Given the description of an element on the screen output the (x, y) to click on. 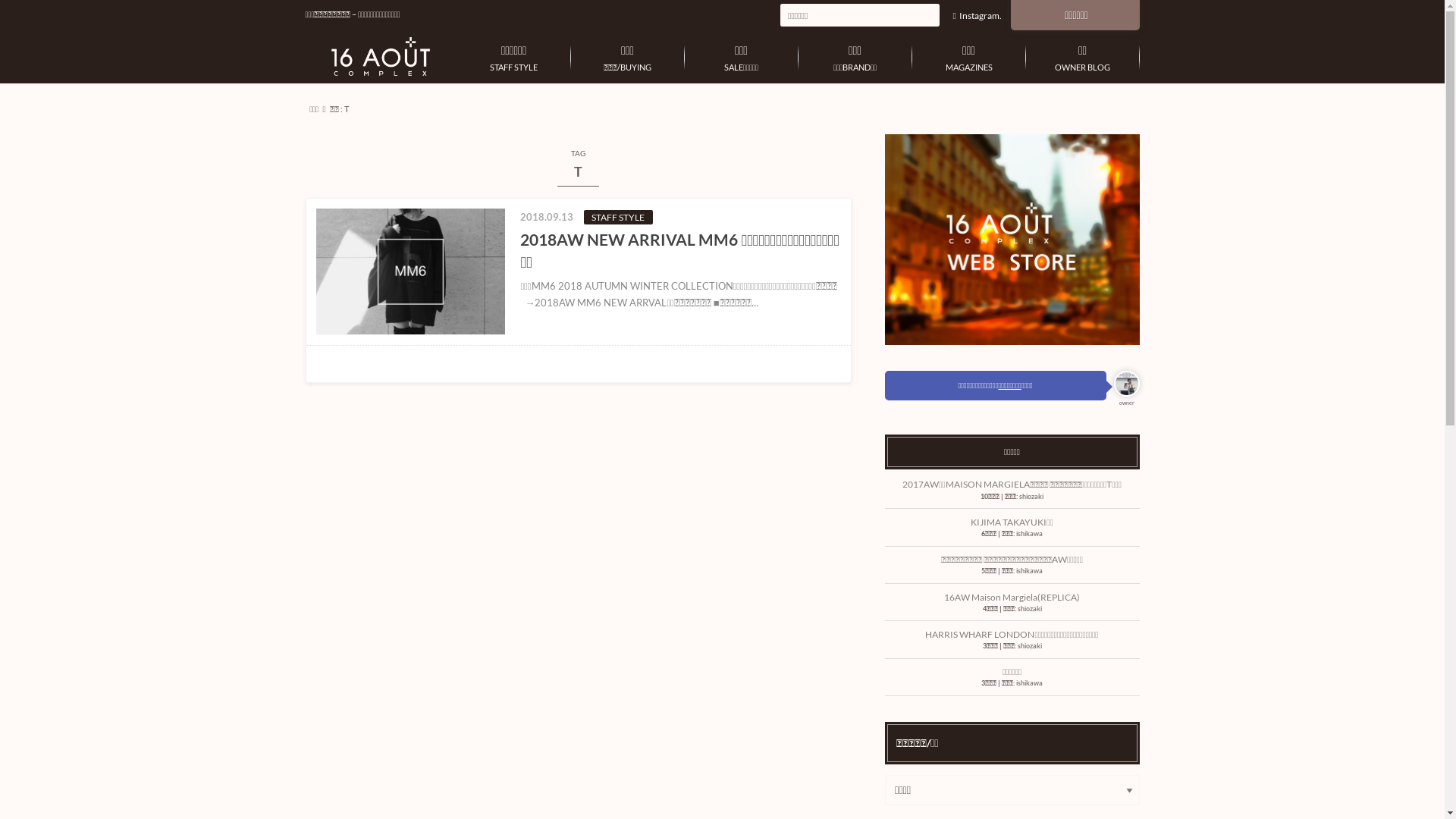
ishikawa Element type: text (1029, 533)
shiozaki Element type: text (1031, 496)
ishikawa Element type: text (1029, 570)
shiozaki Element type: text (1029, 608)
shiozaki Element type: text (1029, 645)
Instagram. Element type: text (977, 15)
ishikawa Element type: text (1029, 682)
16AW Maison Margiela(REPLICA) Element type: text (1011, 596)
